Given the description of an element on the screen output the (x, y) to click on. 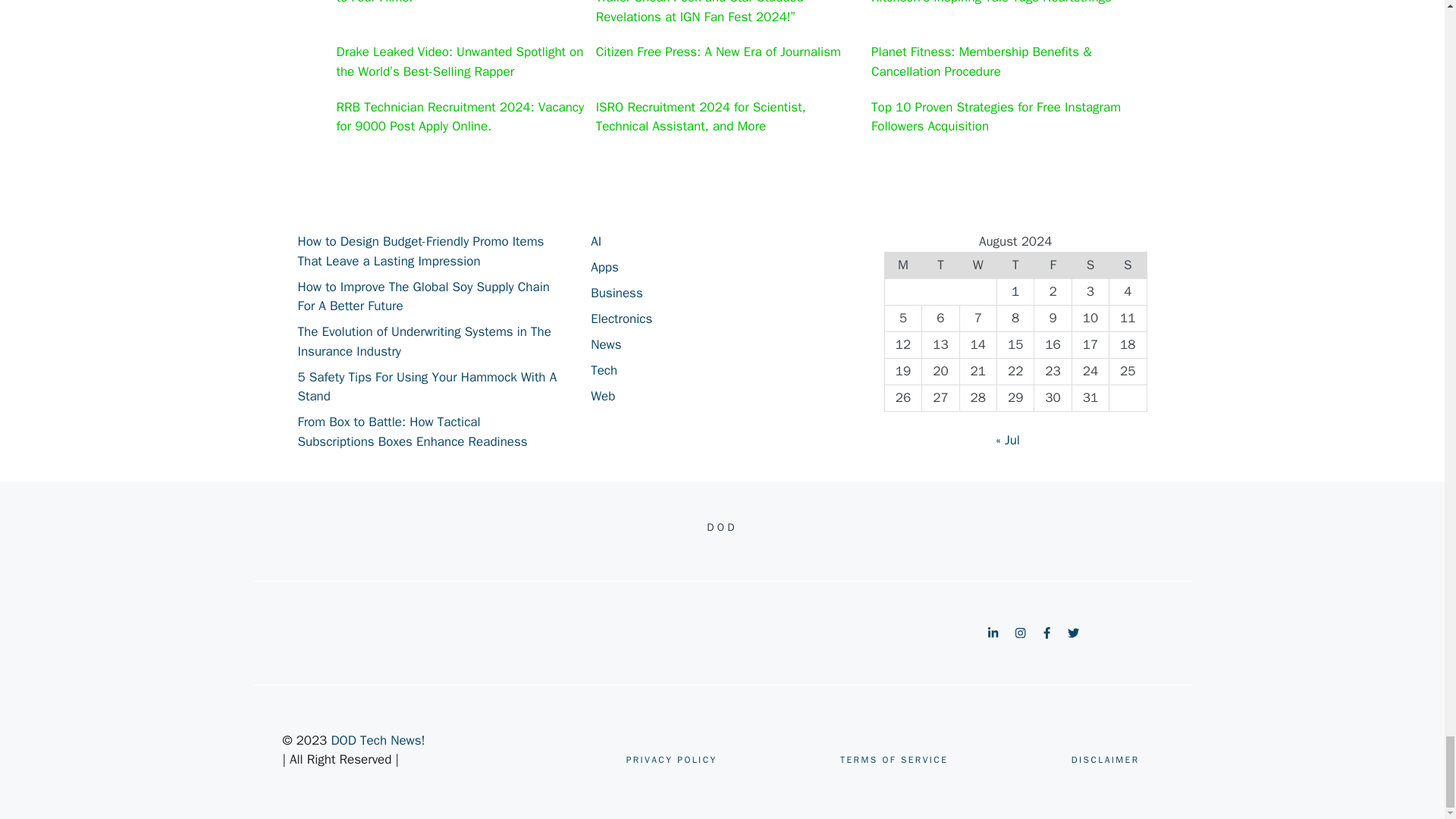
Wednesday (977, 264)
Sunday (1128, 264)
Friday (1052, 264)
Saturday (1089, 264)
Tuesday (940, 264)
Thursday (1014, 264)
Monday (902, 264)
